Given the description of an element on the screen output the (x, y) to click on. 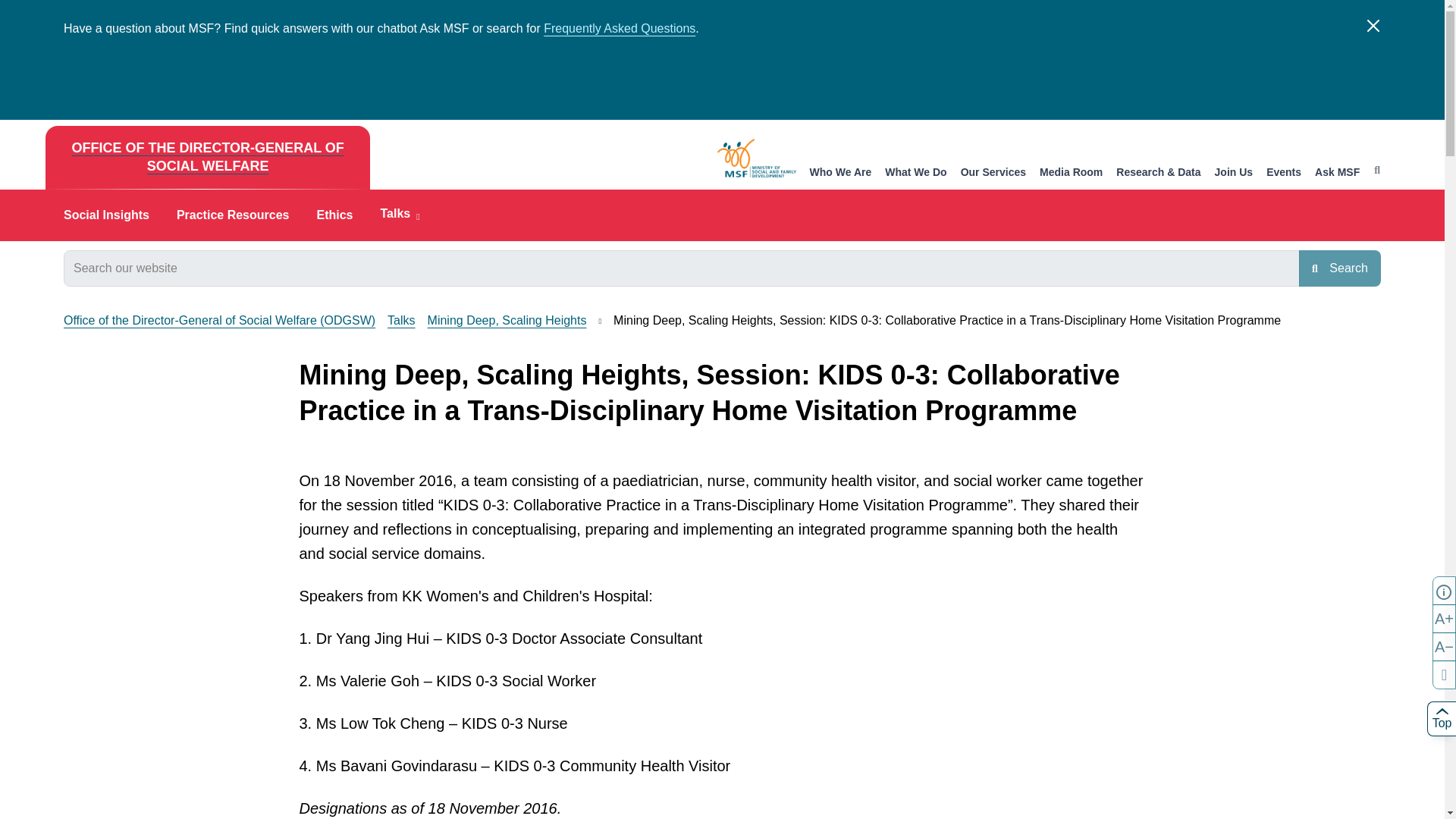
Events (1283, 172)
MSF logo (756, 157)
Our Services (993, 172)
Media Room (1070, 172)
Frequently Asked Questions (619, 28)
What We Do (915, 172)
Ask MSF (1336, 172)
Who We Are (840, 172)
Join Us (1233, 172)
OFFICE OF THE DIRECTOR-GENERAL OF SOCIAL WELFARE (207, 157)
